Given the description of an element on the screen output the (x, y) to click on. 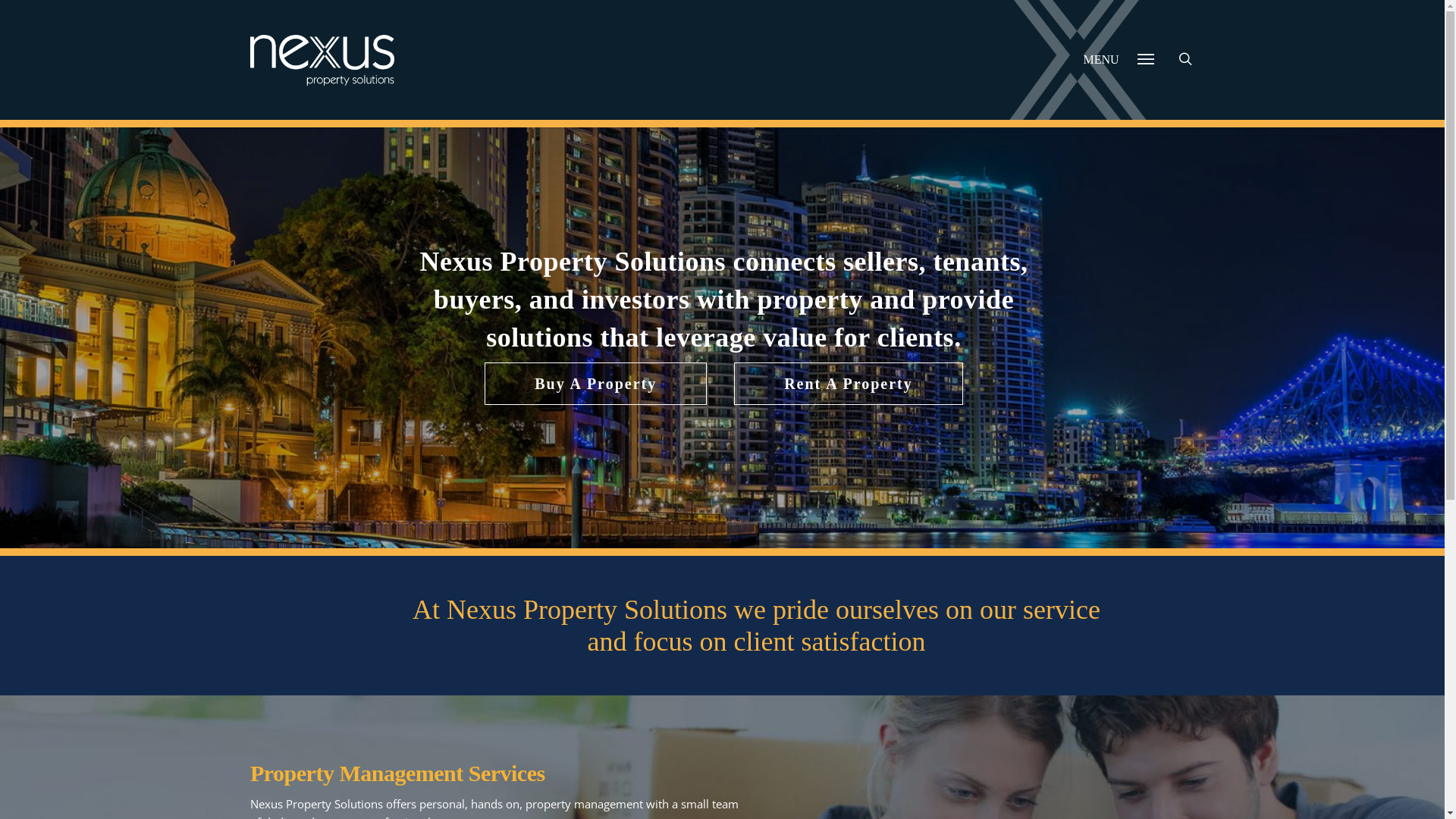
Buy A Property Element type: text (595, 383)
MENU Element type: text (1118, 70)
Rent A Property Element type: text (848, 383)
